Given the description of an element on the screen output the (x, y) to click on. 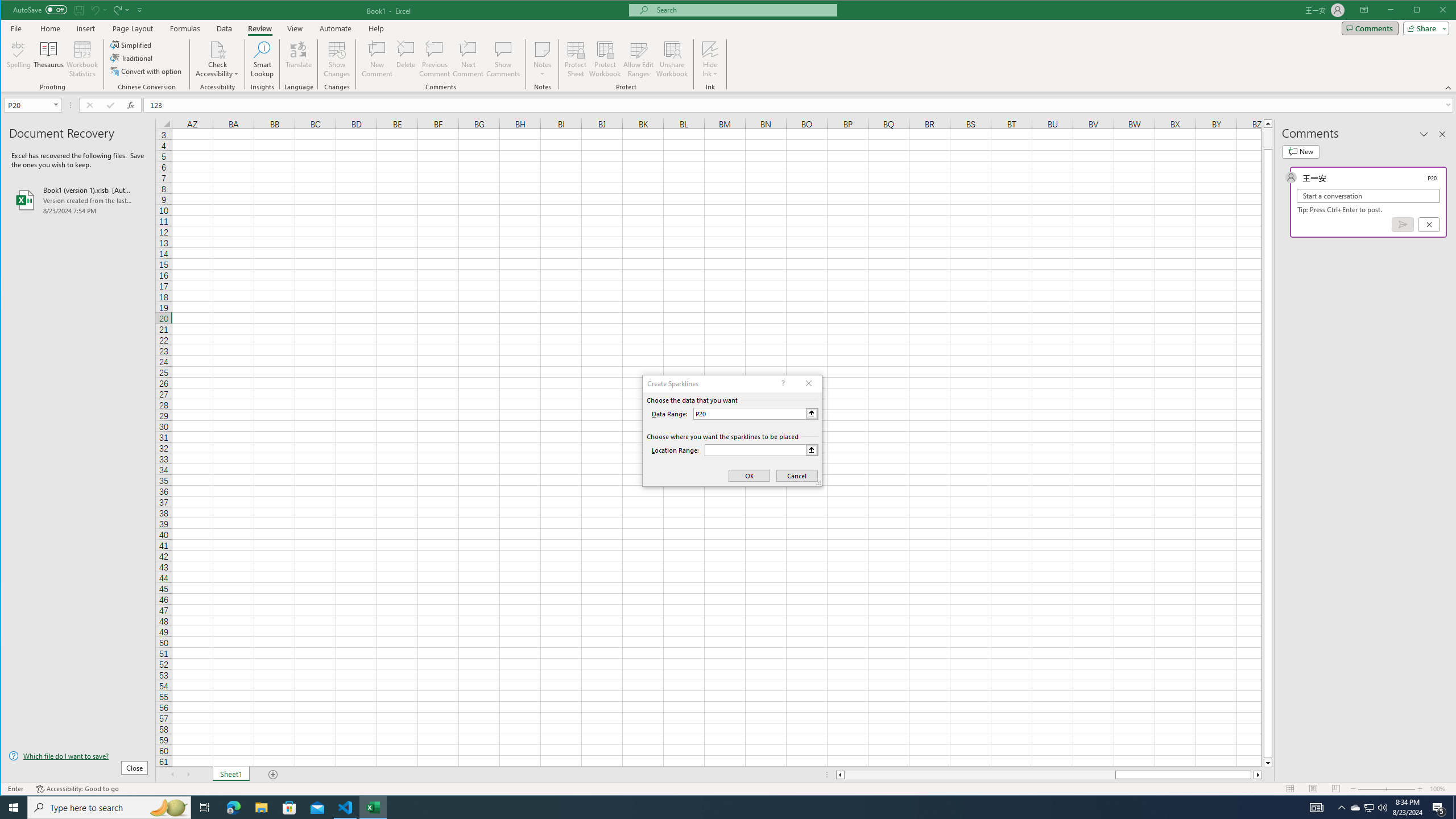
Hide Ink (710, 59)
Review (259, 28)
Book1 (version 1).xlsb  [AutoRecovered] (78, 199)
Add Sheet (272, 774)
Quick Access Toolbar (79, 9)
AutoSave (39, 9)
Class: NetUIScrollBar (1048, 774)
Check Accessibility (217, 59)
New Comment (377, 59)
Notes (541, 59)
Simplified (132, 44)
Open (56, 105)
Which file do I want to save? (78, 755)
